Given the description of an element on the screen output the (x, y) to click on. 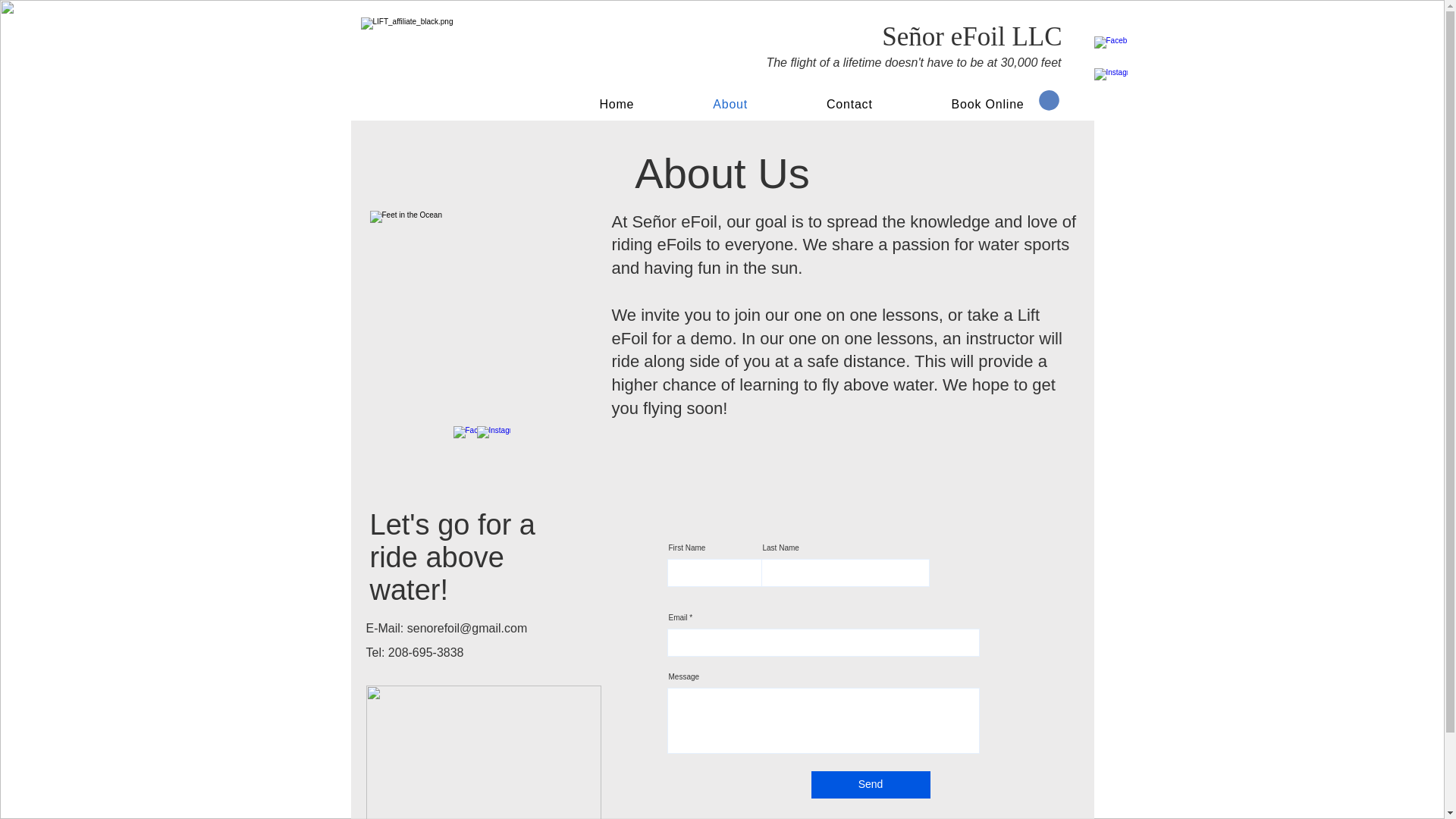
About (730, 104)
Book Online (988, 104)
Contact (849, 104)
Home (615, 104)
Send (870, 784)
